Given the description of an element on the screen output the (x, y) to click on. 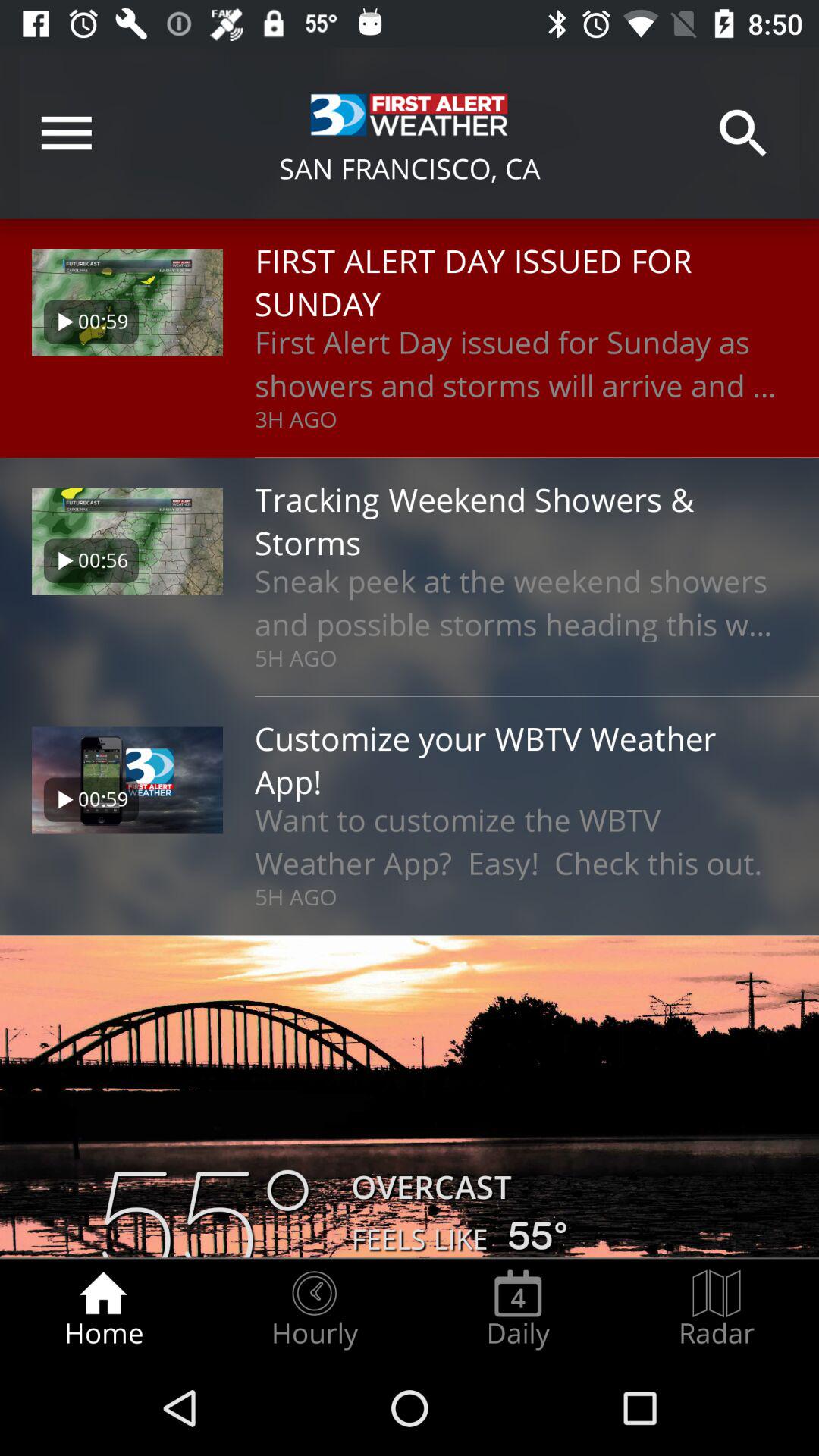
turn off the icon next to the hourly icon (103, 1309)
